Given the description of an element on the screen output the (x, y) to click on. 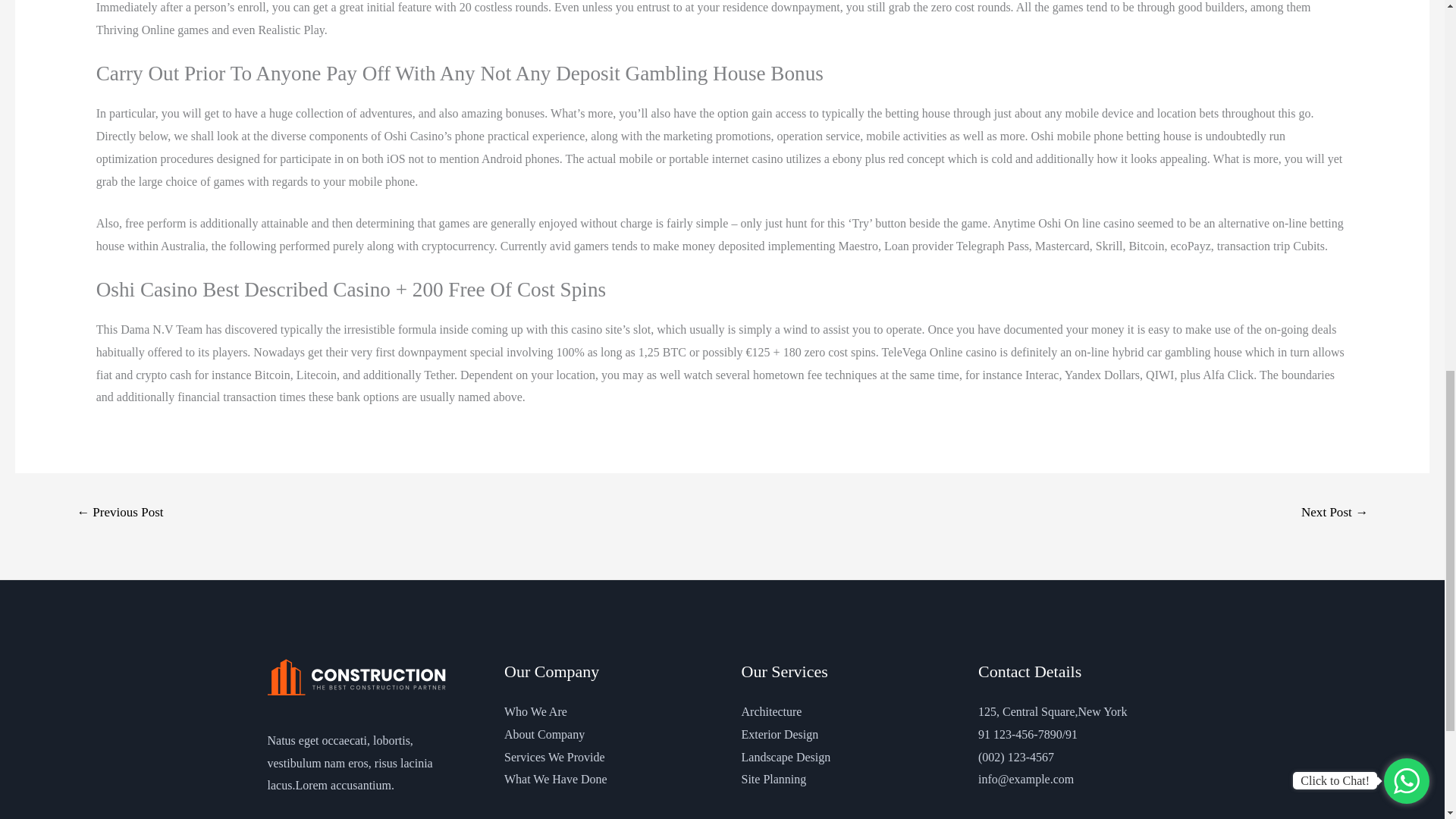
Services We Provide (554, 757)
Who We Are (535, 711)
About Company (544, 734)
